Given the description of an element on the screen output the (x, y) to click on. 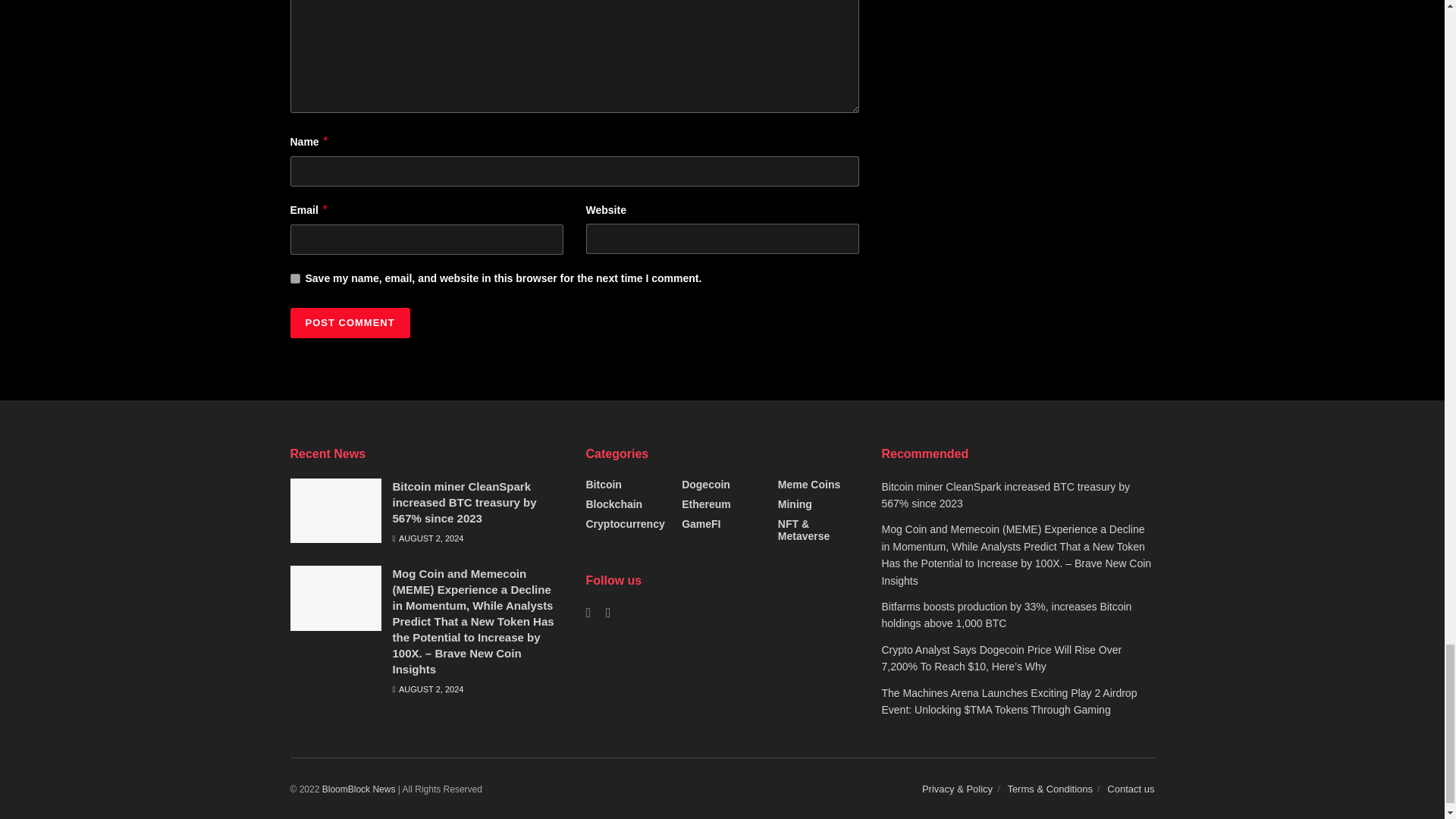
Premium news  (358, 788)
Post Comment (349, 322)
yes (294, 278)
